Given the description of an element on the screen output the (x, y) to click on. 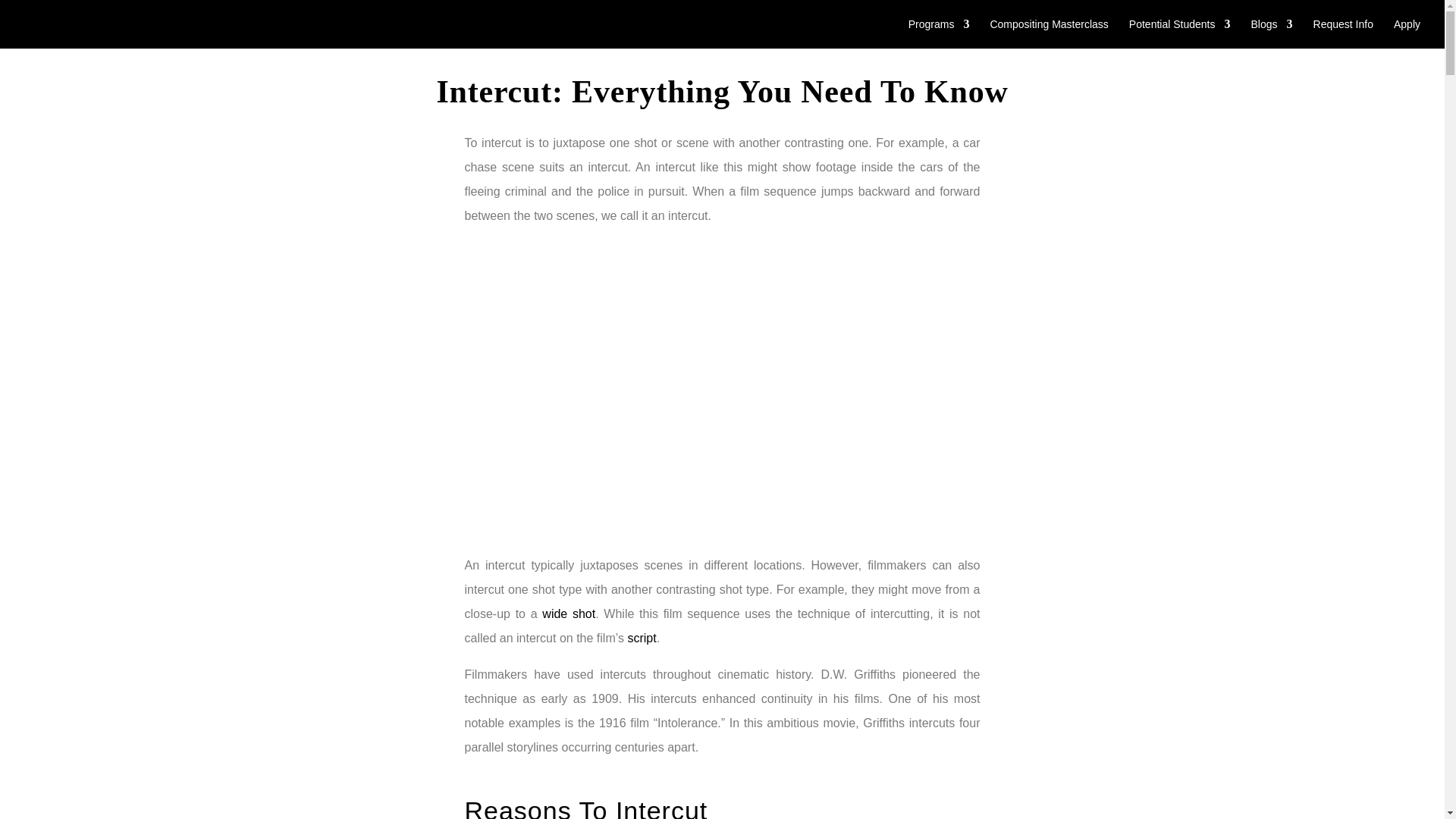
Request Info (1343, 33)
Programs (938, 33)
Compositing Masterclass (1049, 33)
Potential Students (1179, 33)
Blogs (1271, 33)
